Given the description of an element on the screen output the (x, y) to click on. 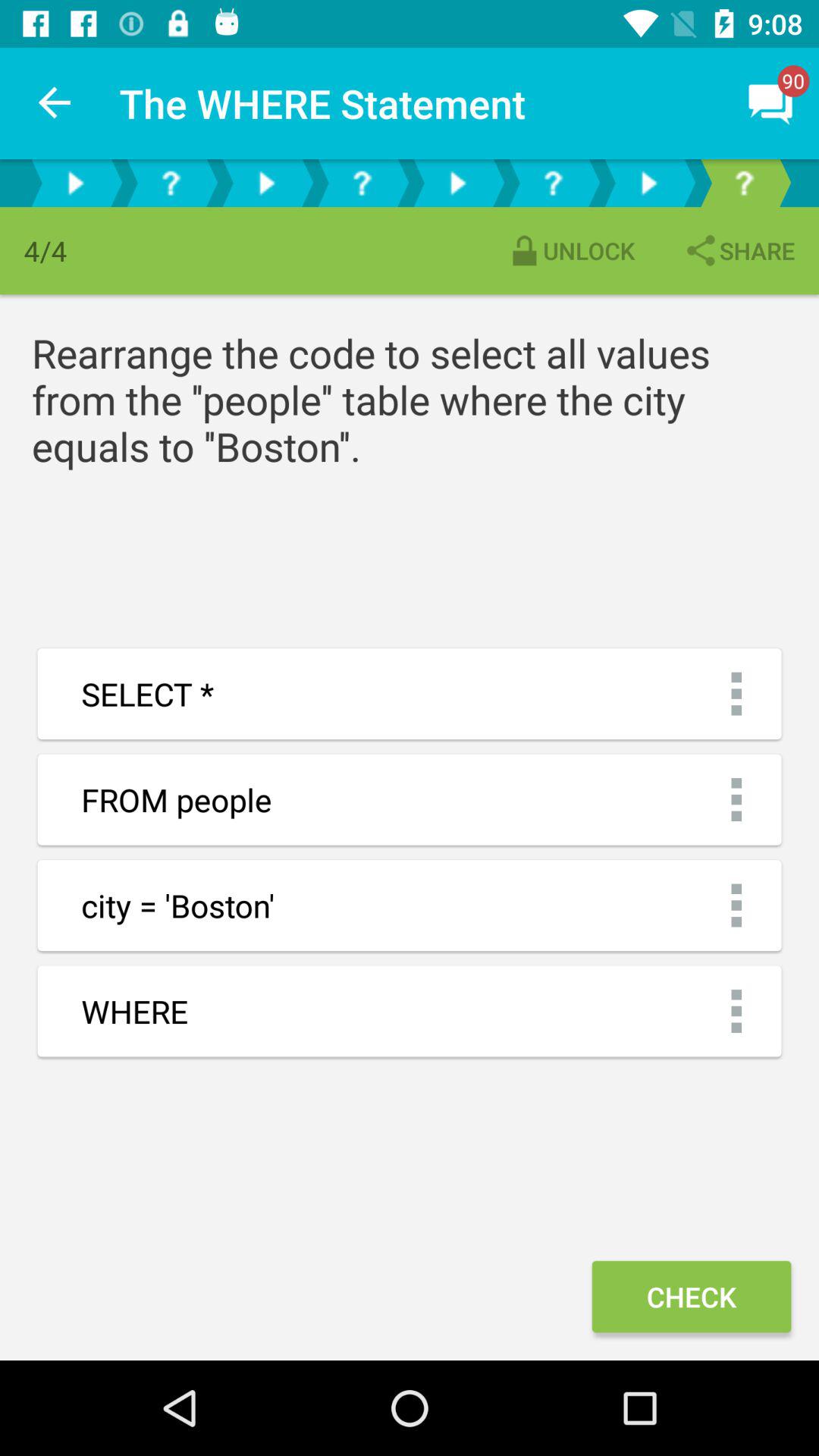
open slide (265, 183)
